Given the description of an element on the screen output the (x, y) to click on. 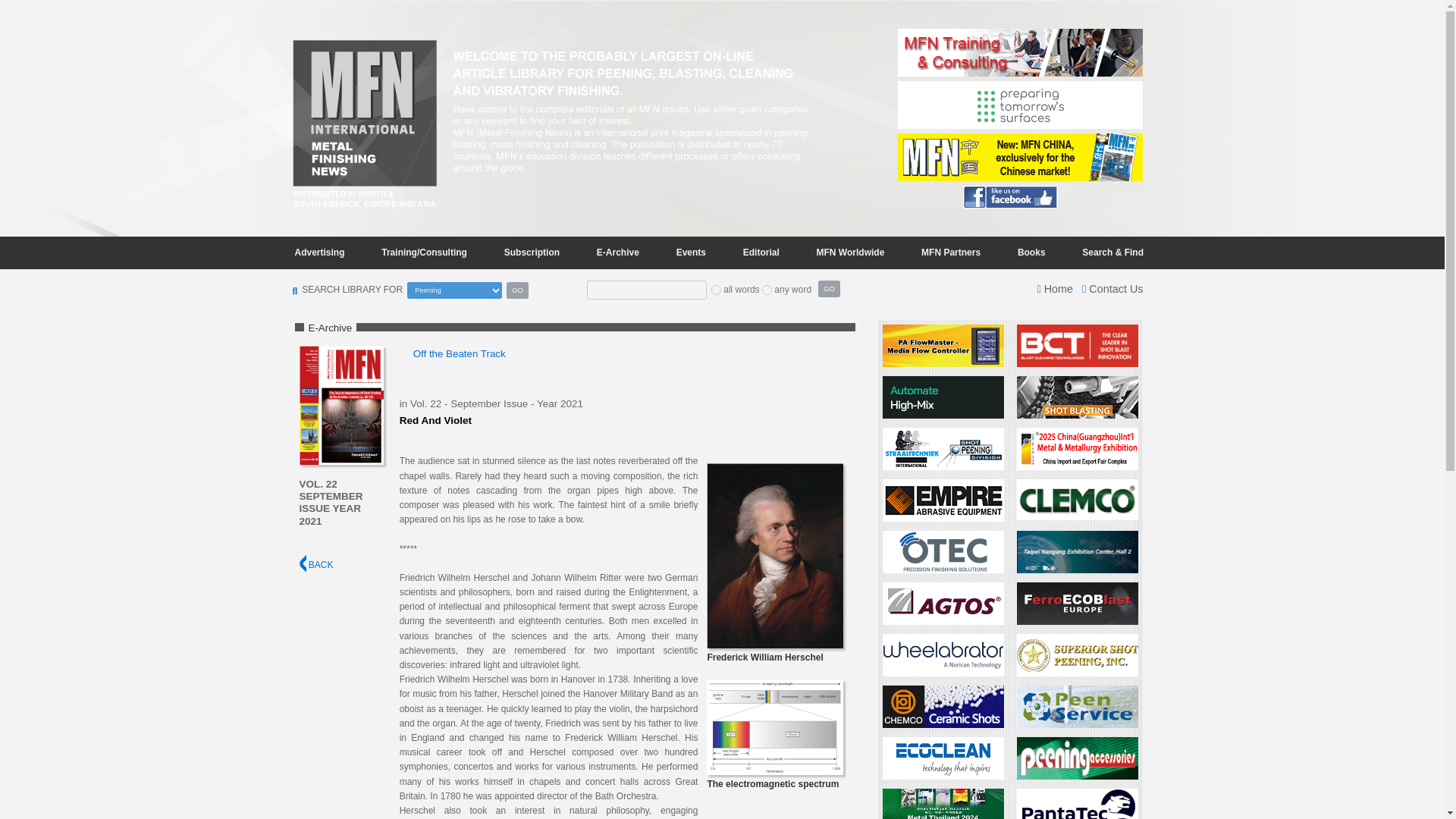
MFN Partners (951, 252)
GO (517, 289)
Contact Us (1111, 288)
BACK (315, 564)
Subscription (531, 252)
E-Archive (617, 252)
MFN Worldwide (850, 252)
Events (690, 252)
Advertising (319, 252)
Home (1054, 288)
GO (829, 288)
Editorial (761, 252)
Books (1031, 252)
OR (766, 289)
AND (715, 289)
